Given the description of an element on the screen output the (x, y) to click on. 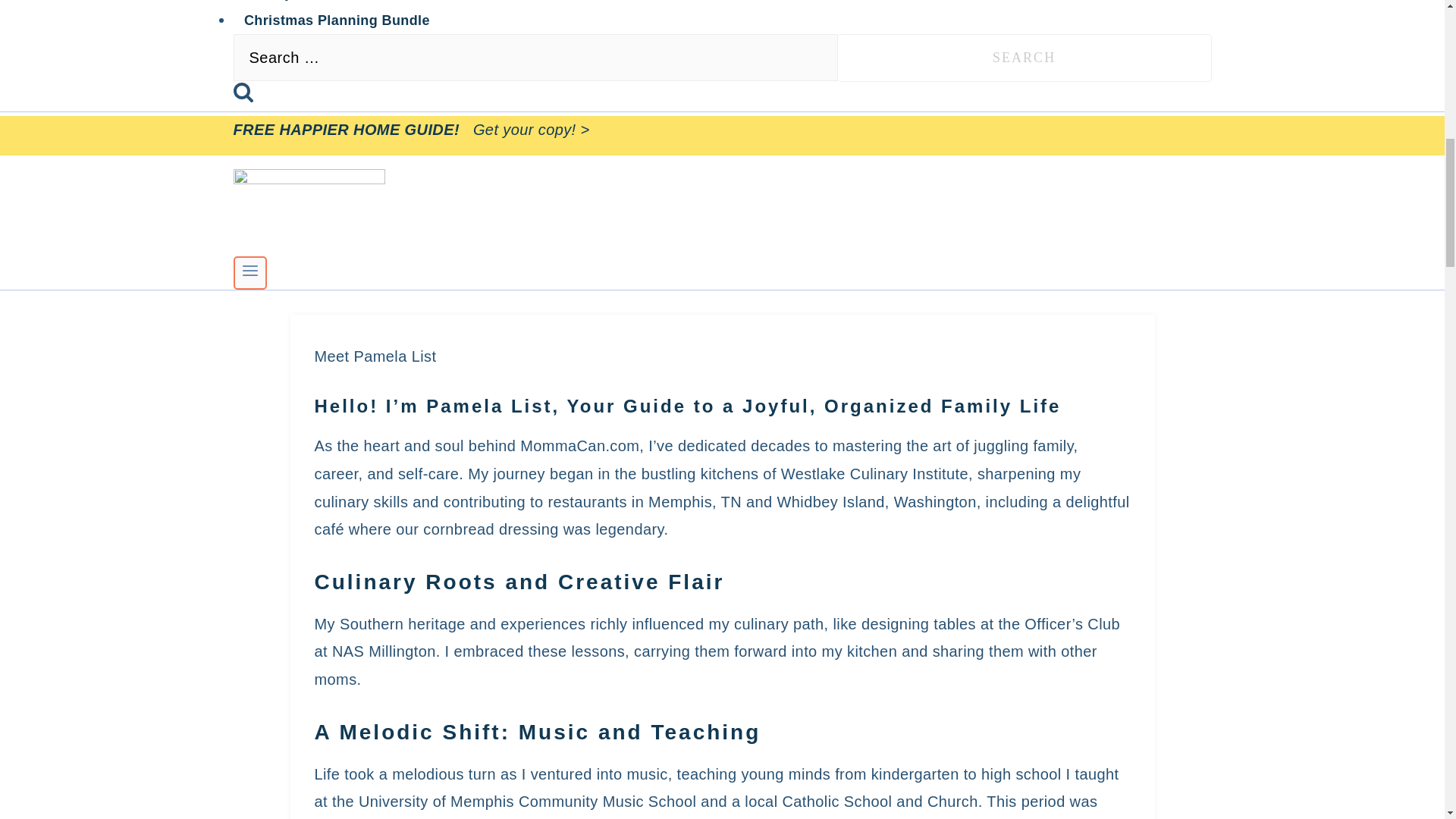
Search (1024, 57)
Search (1024, 57)
Christmas Planning Bundle (336, 20)
Search (1024, 57)
Toggle Menu (249, 272)
Library (268, 4)
Search (242, 91)
Toggle Menu (250, 270)
